Given the description of an element on the screen output the (x, y) to click on. 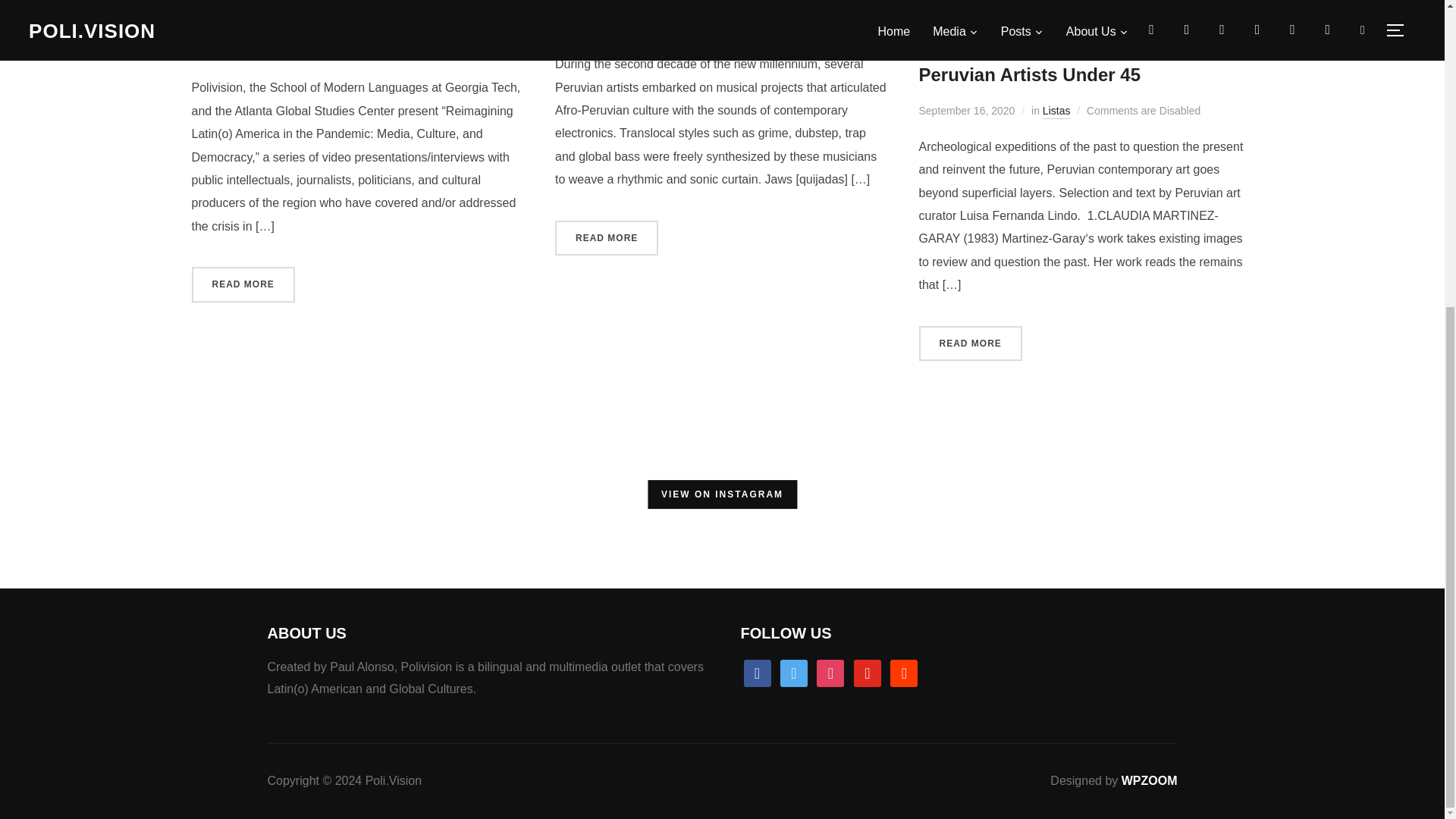
Events (294, 52)
READ MORE (242, 284)
